Given the description of an element on the screen output the (x, y) to click on. 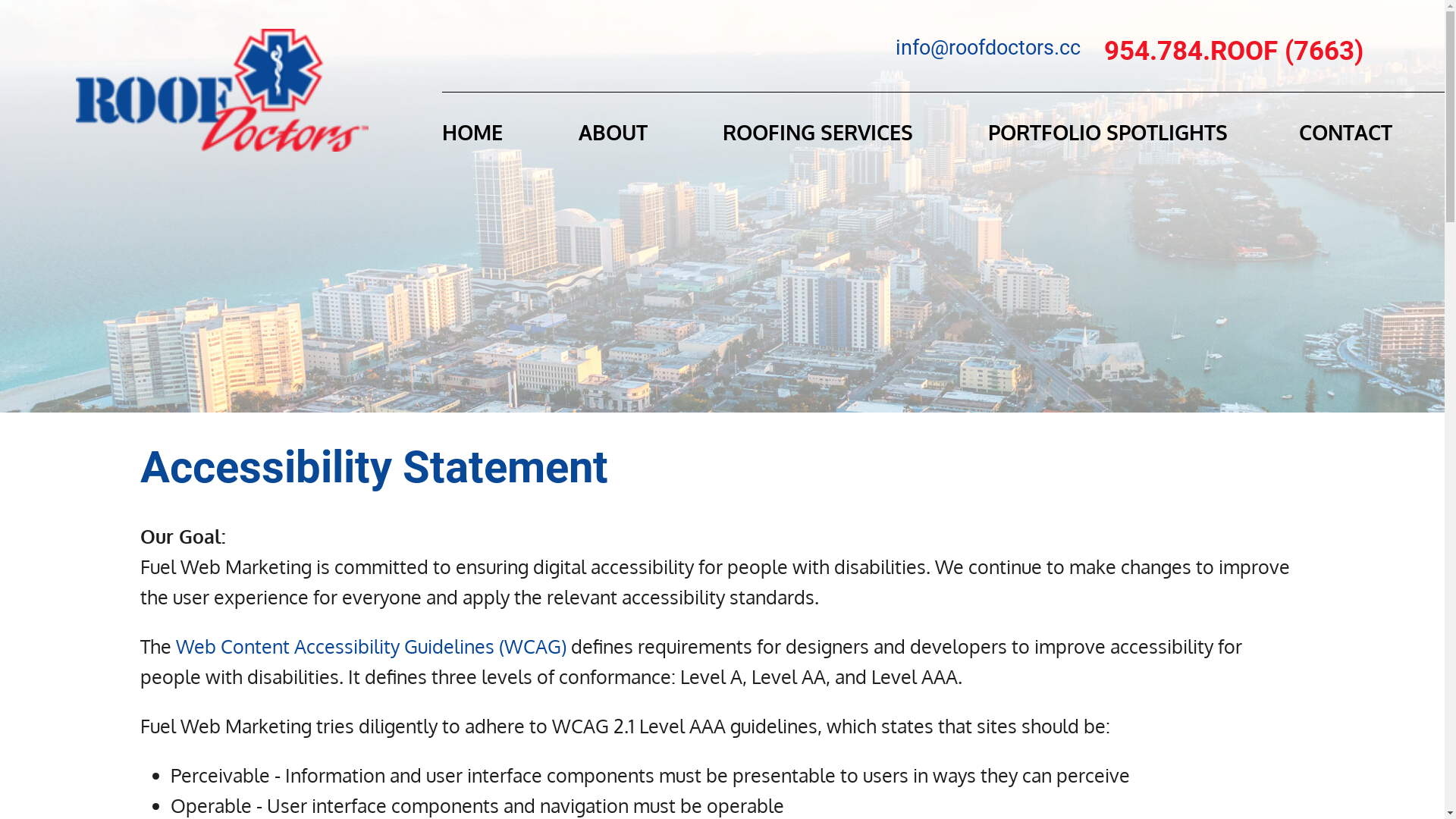
ROOFING SERVICES Element type: text (781, 139)
954.784.ROOF (7663) Element type: text (1233, 50)
PORTFOLIO SPOTLIGHTS Element type: text (1071, 139)
info@roofdoctors.cc Element type: text (987, 47)
ABOUT Element type: text (576, 139)
Web Content Accessibility Guidelines (WCAG) Element type: text (370, 645)
HOME Element type: text (472, 139)
CONTACT Element type: text (1310, 139)
